Given the description of an element on the screen output the (x, y) to click on. 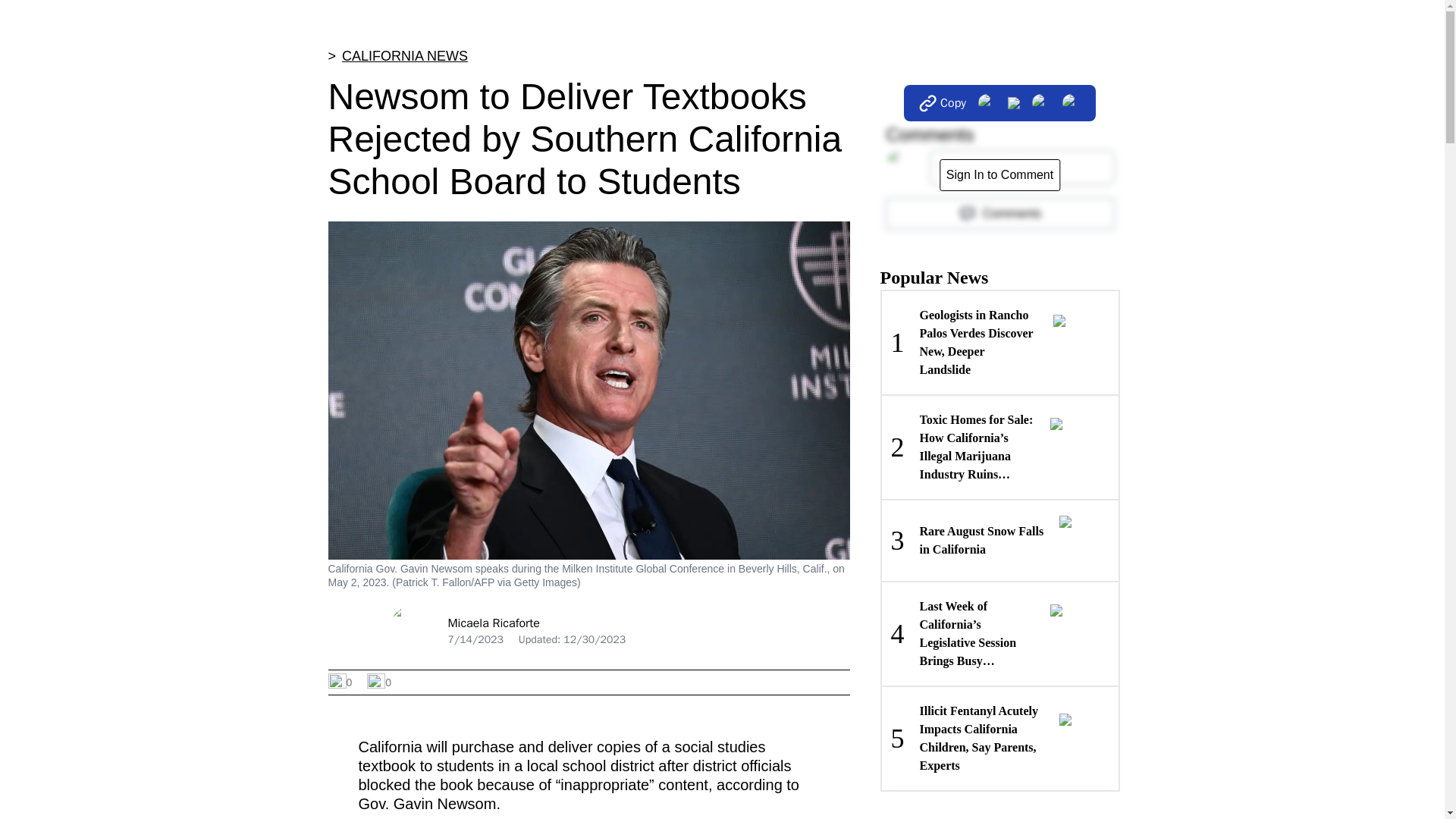
CALIFORNIA NEWS (999, 539)
Micaela Ricaforte (404, 55)
Comments (492, 623)
Sign In to Comment (999, 214)
0 (999, 174)
